Given the description of an element on the screen output the (x, y) to click on. 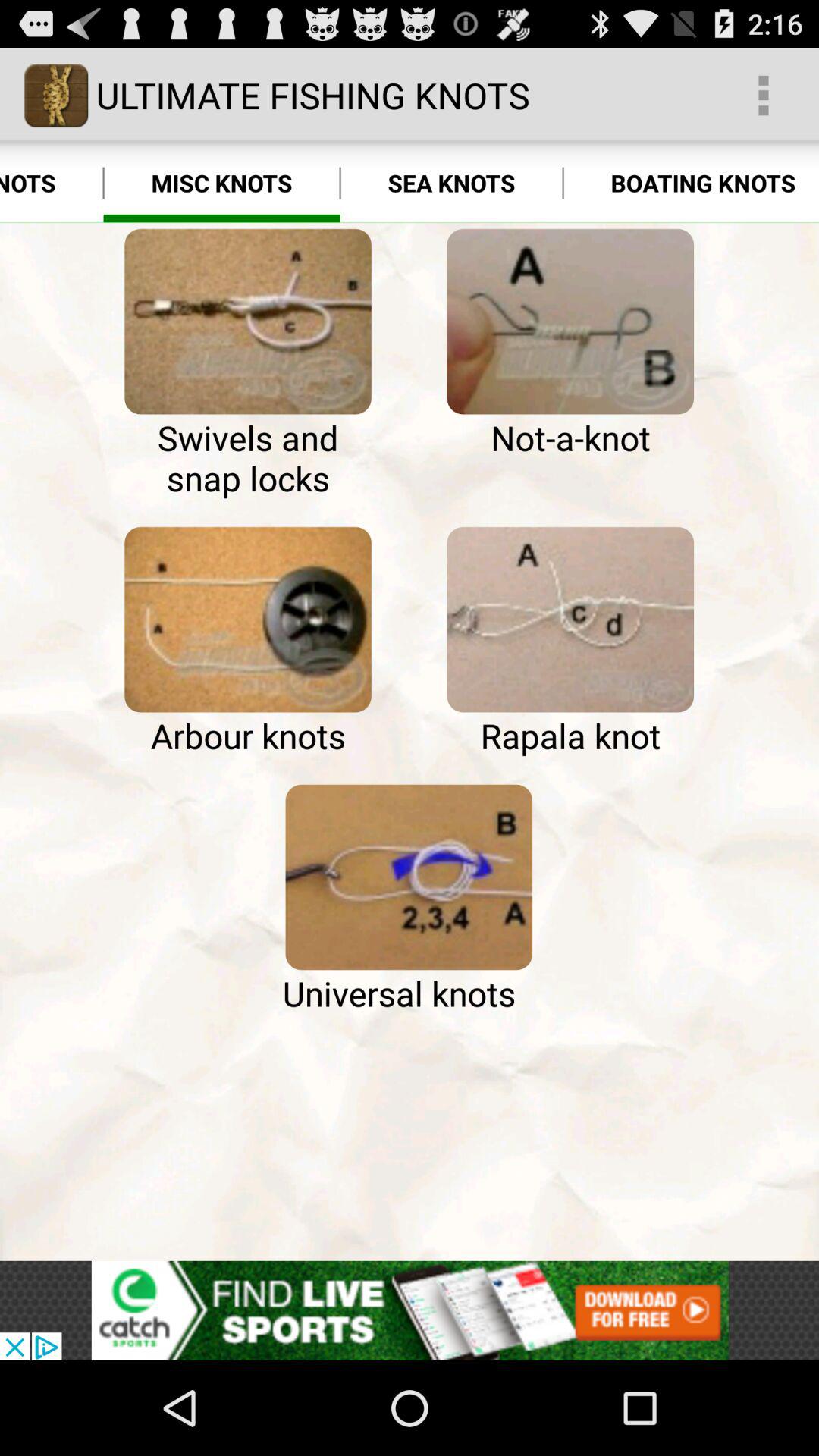
tap app to the right of sea knots app (691, 182)
